Given the description of an element on the screen output the (x, y) to click on. 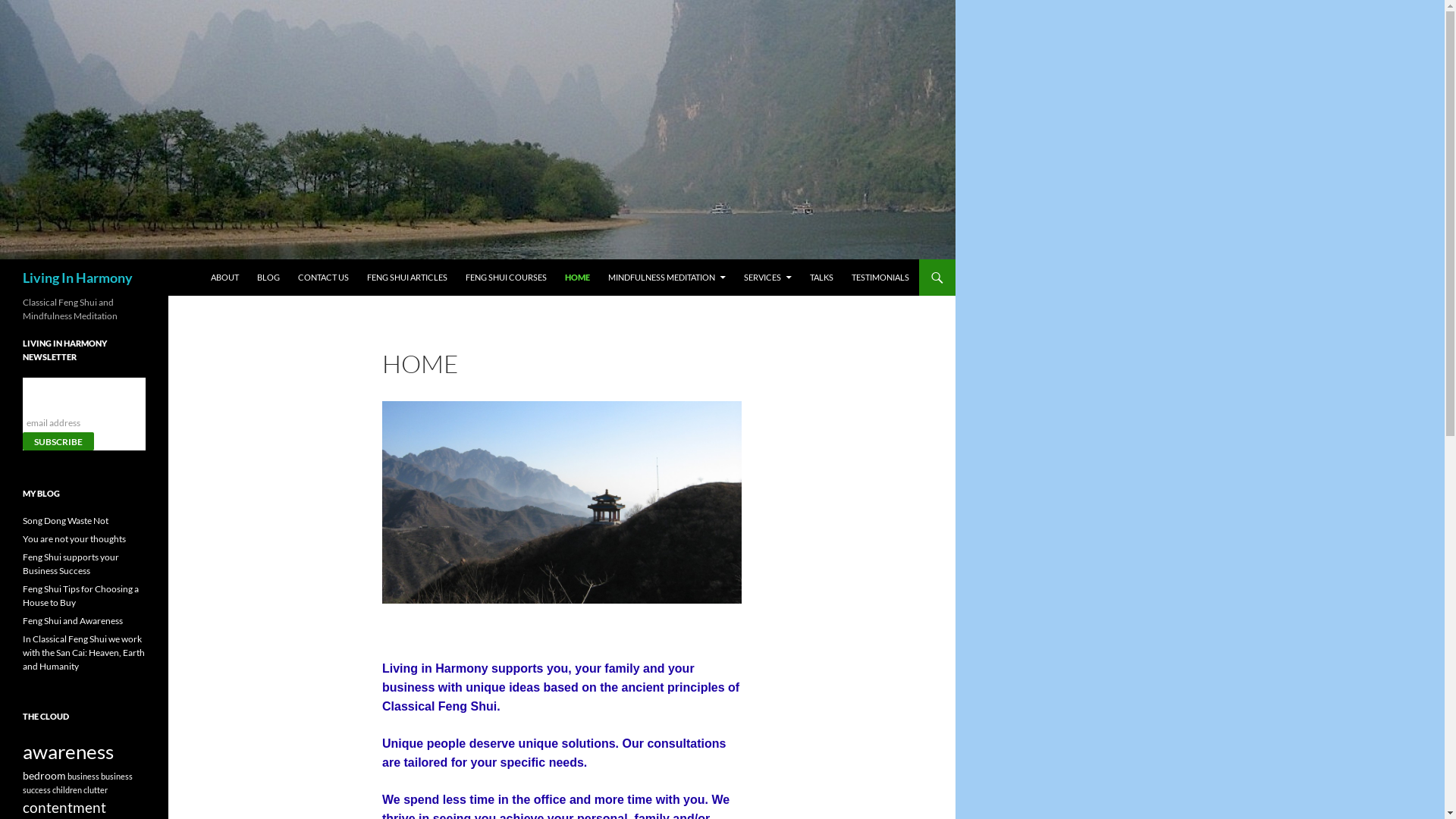
contentment Element type: text (64, 806)
HOME Element type: text (577, 277)
Subscribe Element type: text (58, 441)
Feng Shui Tips for Choosing a House to Buy Element type: text (80, 595)
Living In Harmony Element type: text (77, 277)
TESTIMONIALS Element type: text (880, 277)
Search Element type: text (20, 268)
SKIP TO CONTENT Element type: text (245, 265)
awareness Element type: text (67, 751)
bedroom Element type: text (43, 774)
BLOG Element type: text (267, 277)
MINDFULNESS MEDITATION Element type: text (666, 277)
Song Dong Waste Not Element type: text (65, 520)
CONTACT US Element type: text (322, 277)
The Wall Element type: hover (561, 502)
children Element type: text (66, 789)
FENG SHUI COURSES Element type: text (505, 277)
business success Element type: text (77, 783)
FENG SHUI ARTICLES Element type: text (406, 277)
SERVICES Element type: text (767, 277)
TALKS Element type: text (821, 277)
Feng Shui supports your Business Success Element type: text (70, 563)
ABOUT Element type: text (224, 277)
You are not your thoughts Element type: text (73, 538)
business Element type: text (83, 776)
Feng Shui and Awareness Element type: text (72, 620)
clutter Element type: text (95, 789)
